Given the description of an element on the screen output the (x, y) to click on. 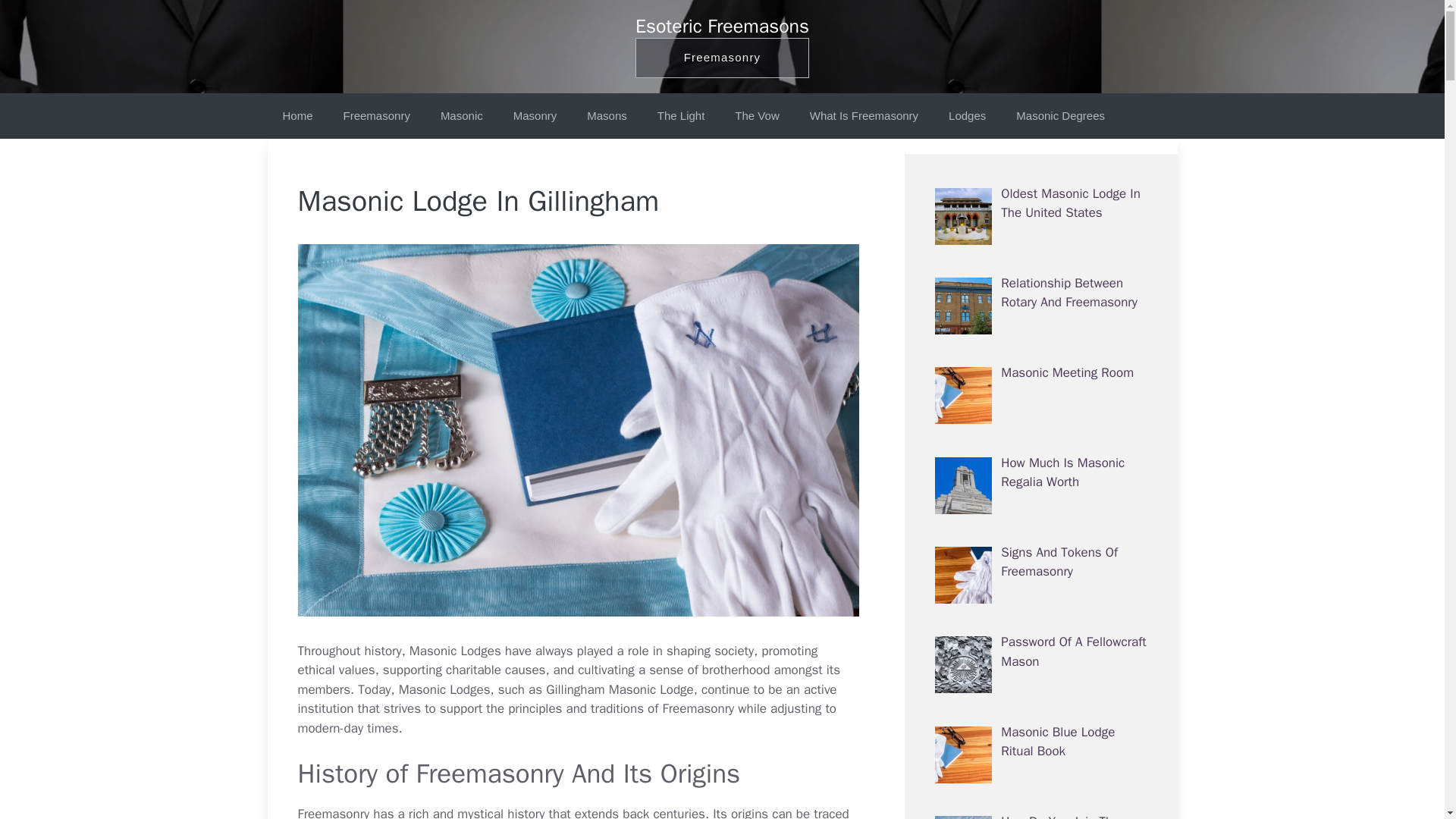
Password Of A Fellowcraft Mason (1074, 651)
Masonry (534, 115)
Masonic Degrees (1060, 115)
Masonic Blue Lodge Ritual Book (1058, 741)
Signs And Tokens Of Freemasonry (1059, 561)
Oldest Masonic Lodge In The United States (1070, 202)
What Is Freemasonry (863, 115)
Relationship Between Rotary And Freemasonry (1069, 293)
Masonic (461, 115)
How Much Is Masonic Regalia Worth (1062, 472)
Esoteric Freemasons (721, 25)
The Light (681, 115)
Lodges (967, 115)
Masonic Meeting Room (1067, 372)
The Vow (756, 115)
